Given the description of an element on the screen output the (x, y) to click on. 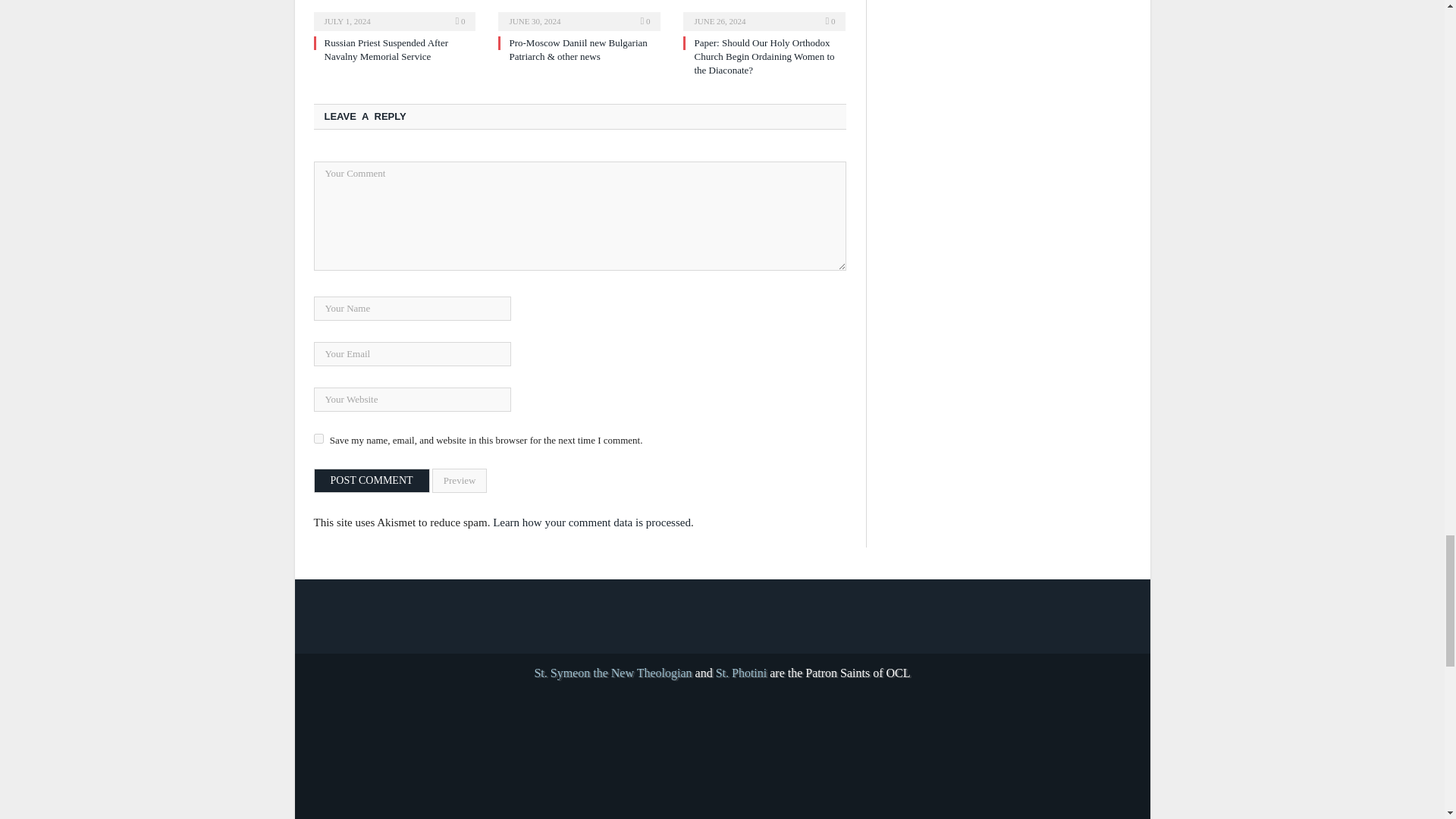
Preview (459, 480)
yes (318, 438)
Post Comment (371, 480)
